Given the description of an element on the screen output the (x, y) to click on. 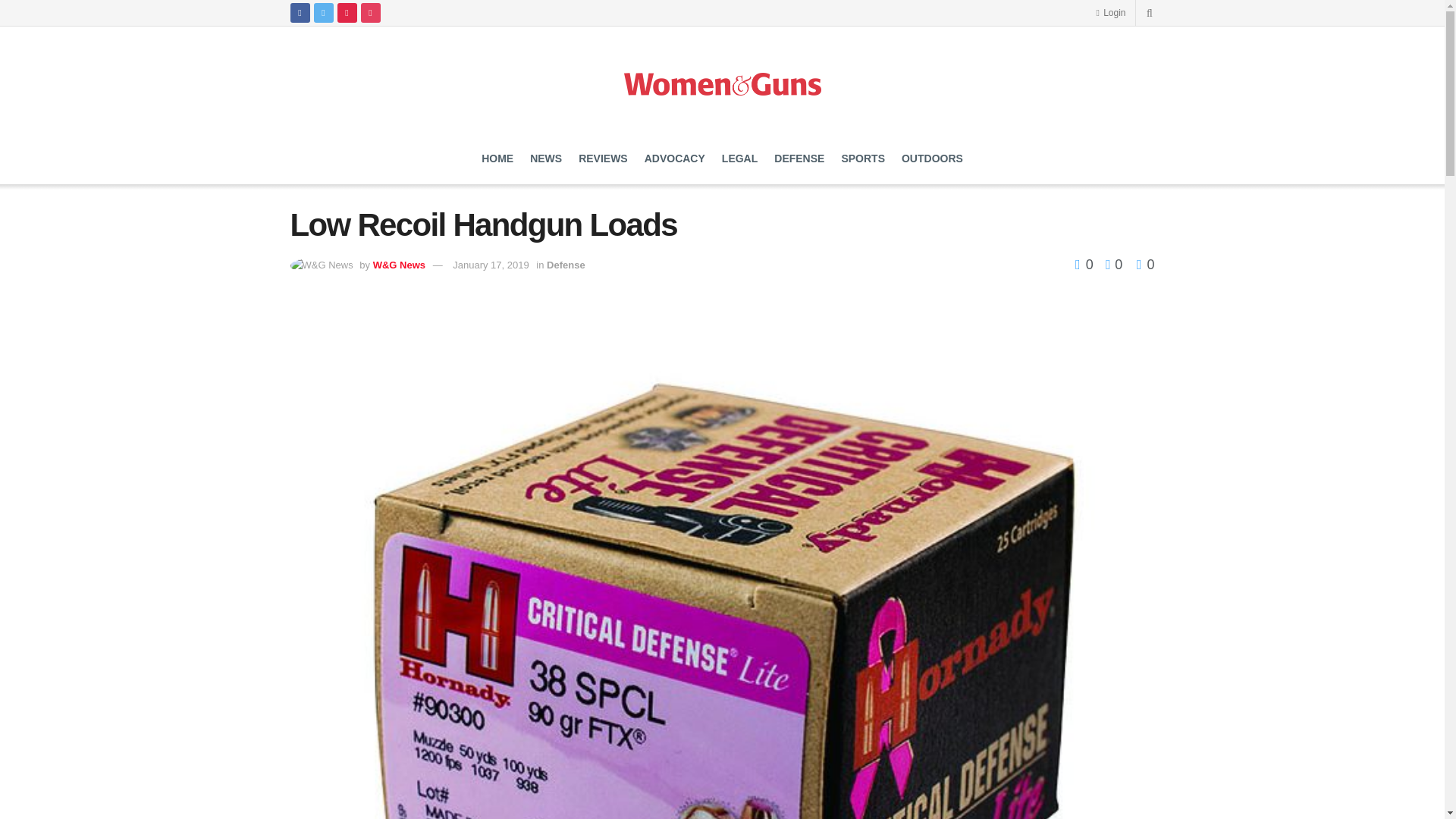
January 17, 2019 (490, 265)
Login (1110, 12)
0 (1109, 264)
ADVOCACY (674, 158)
Defense (566, 265)
REVIEWS (602, 158)
0 (1086, 264)
0 (1145, 264)
OUTDOORS (931, 158)
